Given the description of an element on the screen output the (x, y) to click on. 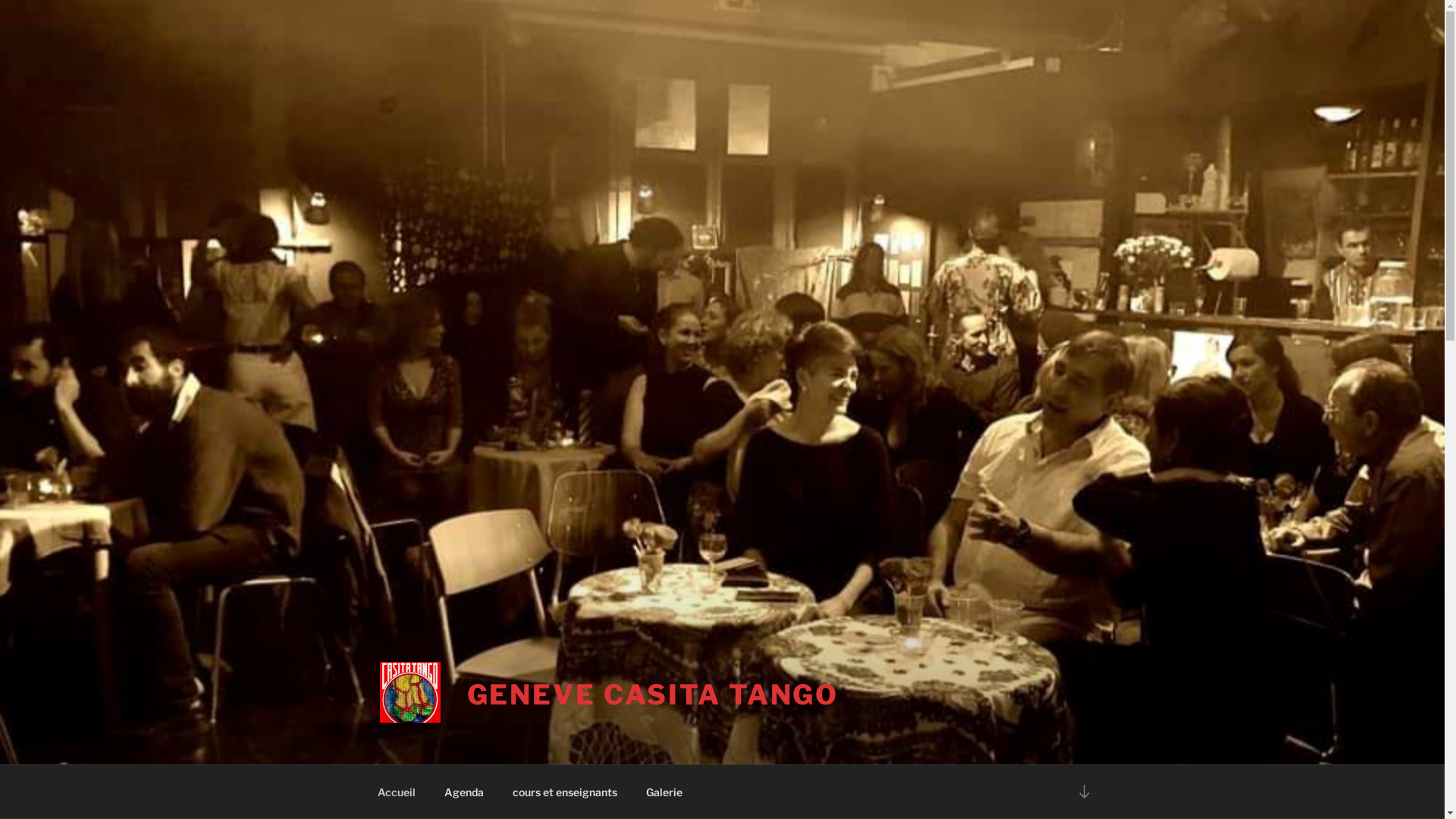
Galerie Element type: text (663, 791)
GENEVE CASITA TANGO Element type: text (653, 694)
Agenda Element type: text (463, 791)
cours et enseignants Element type: text (564, 791)
Accueil Element type: text (396, 791)
Descendre au contenu Element type: text (1083, 790)
